Given the description of an element on the screen output the (x, y) to click on. 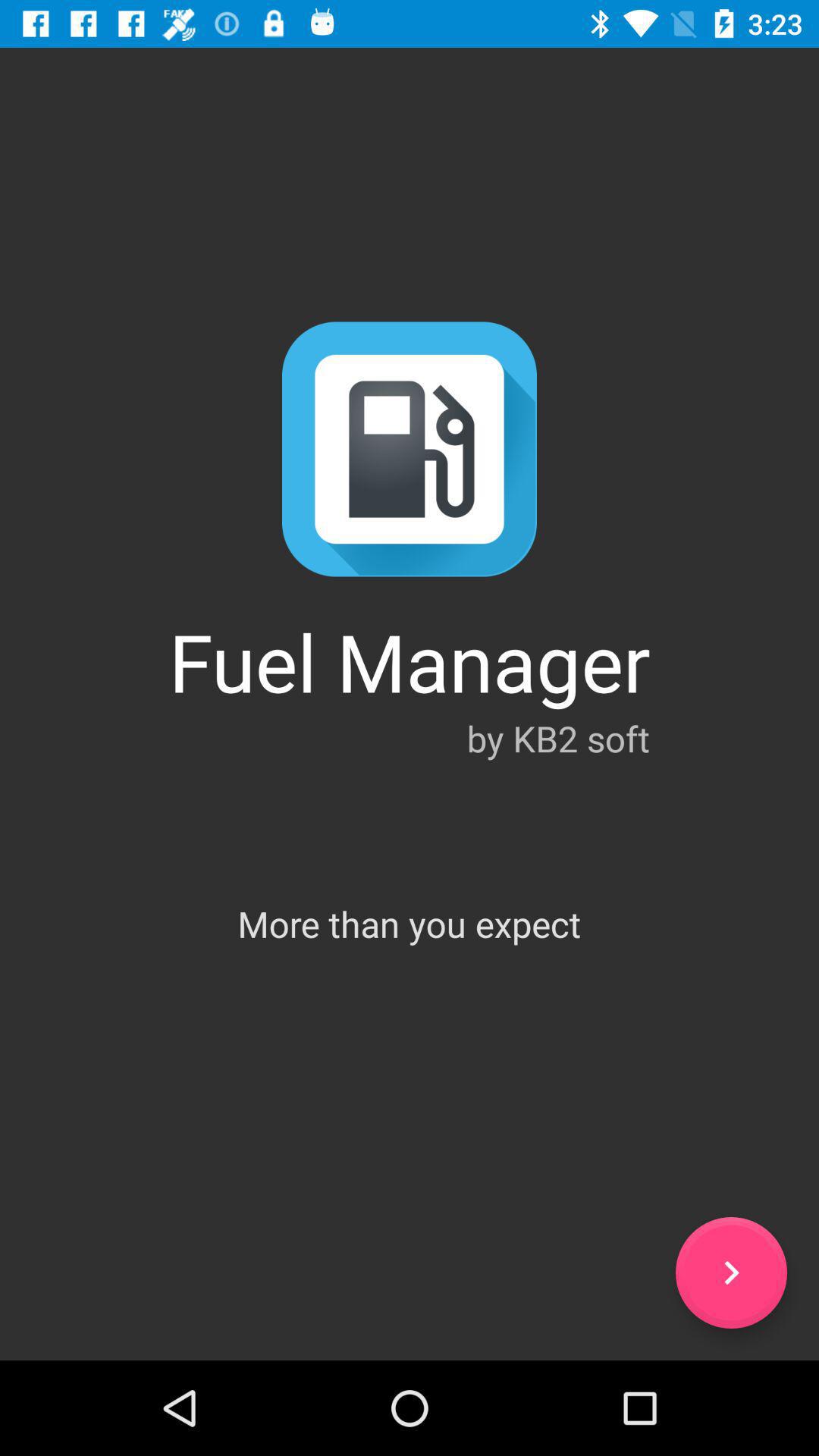
next page (731, 1272)
